Given the description of an element on the screen output the (x, y) to click on. 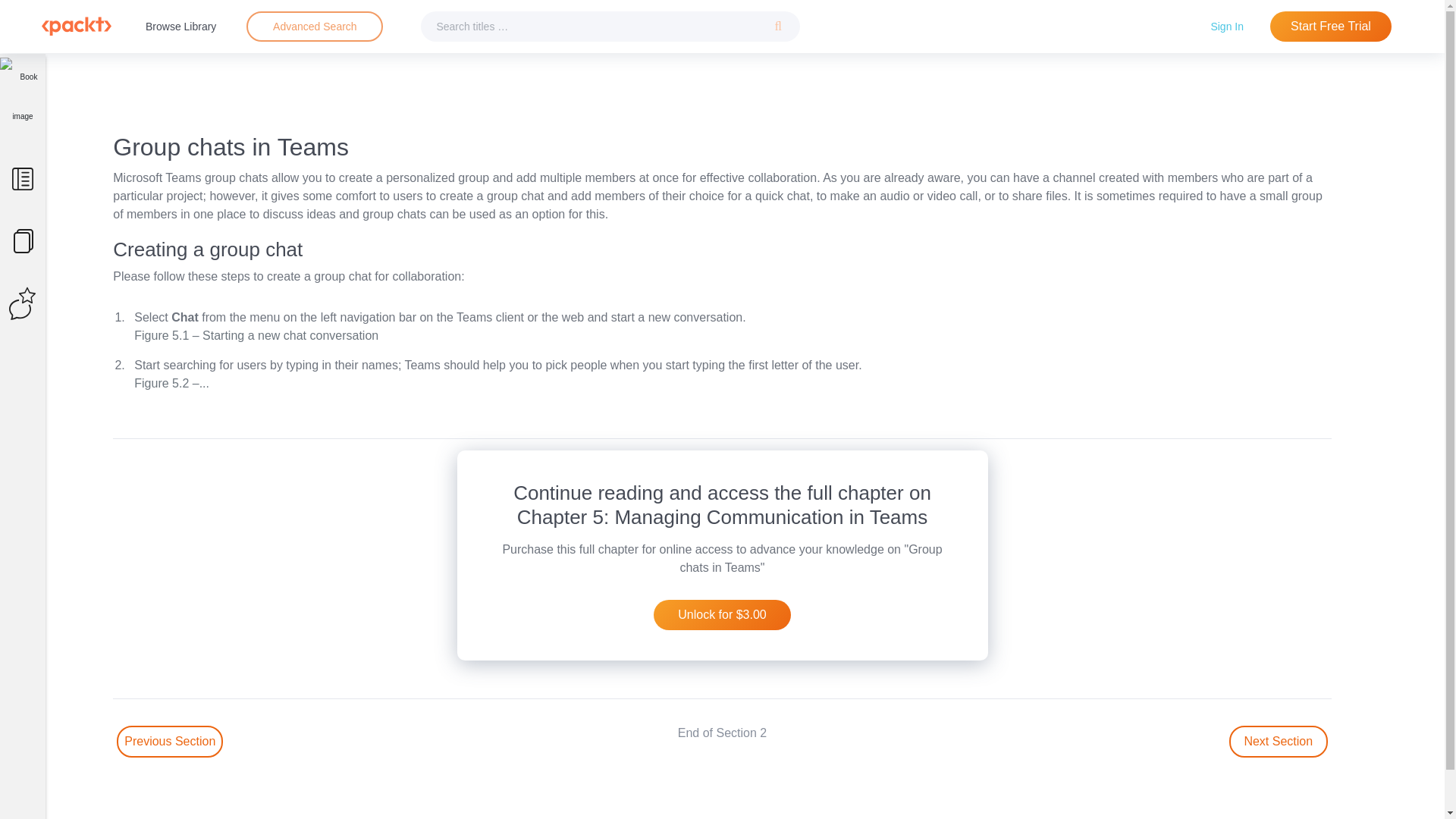
Advanced Search (315, 26)
Sign In (1227, 26)
Advanced search (314, 26)
Go to Previous section (169, 741)
Start Free Trial (1330, 26)
Go to next section (1277, 741)
Advanced Search (314, 26)
Browse Library (180, 26)
